Given the description of an element on the screen output the (x, y) to click on. 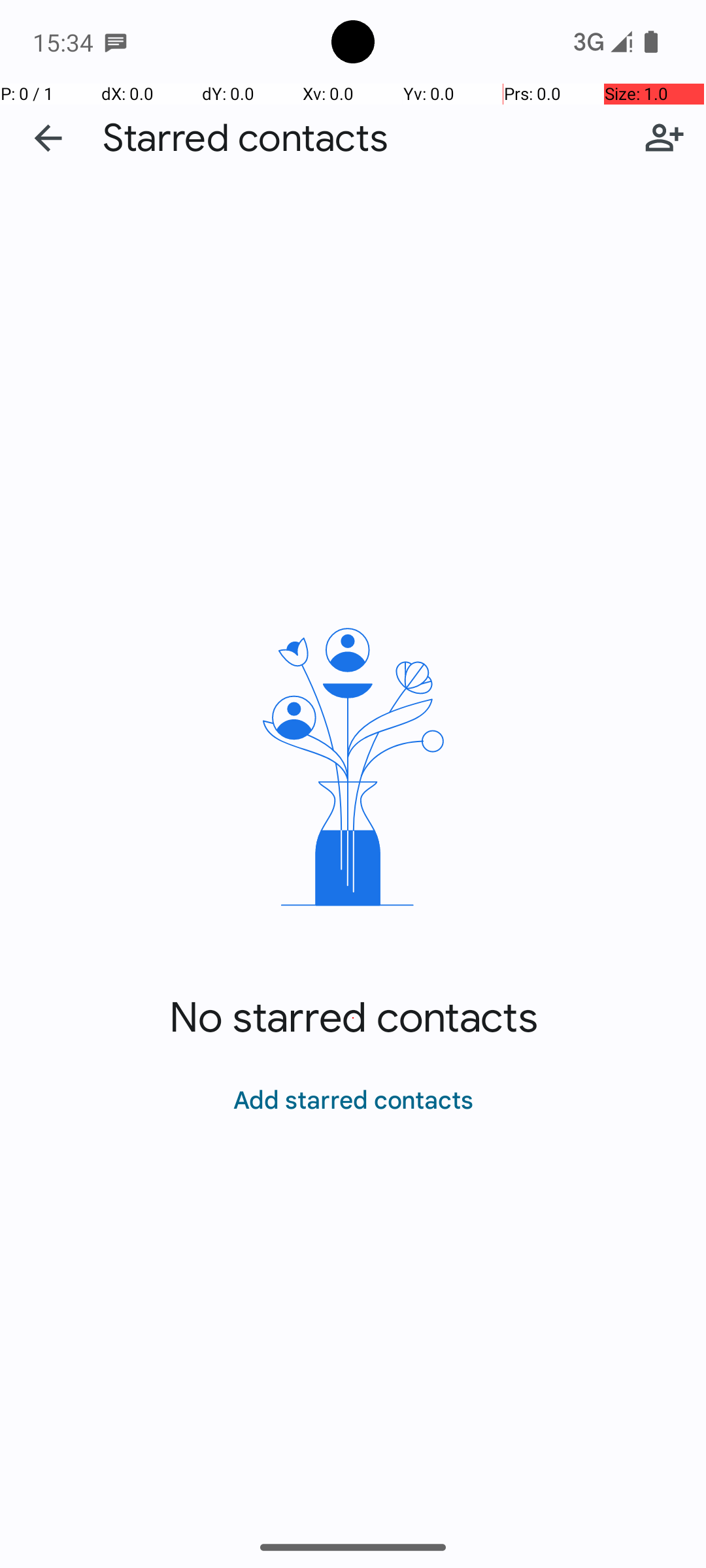
Starred contacts Element type: android.widget.TextView (244, 138)
Add starred contacts Element type: android.widget.Button (664, 137)
No starred contacts Element type: android.widget.TextView (352, 1017)
